Given the description of an element on the screen output the (x, y) to click on. 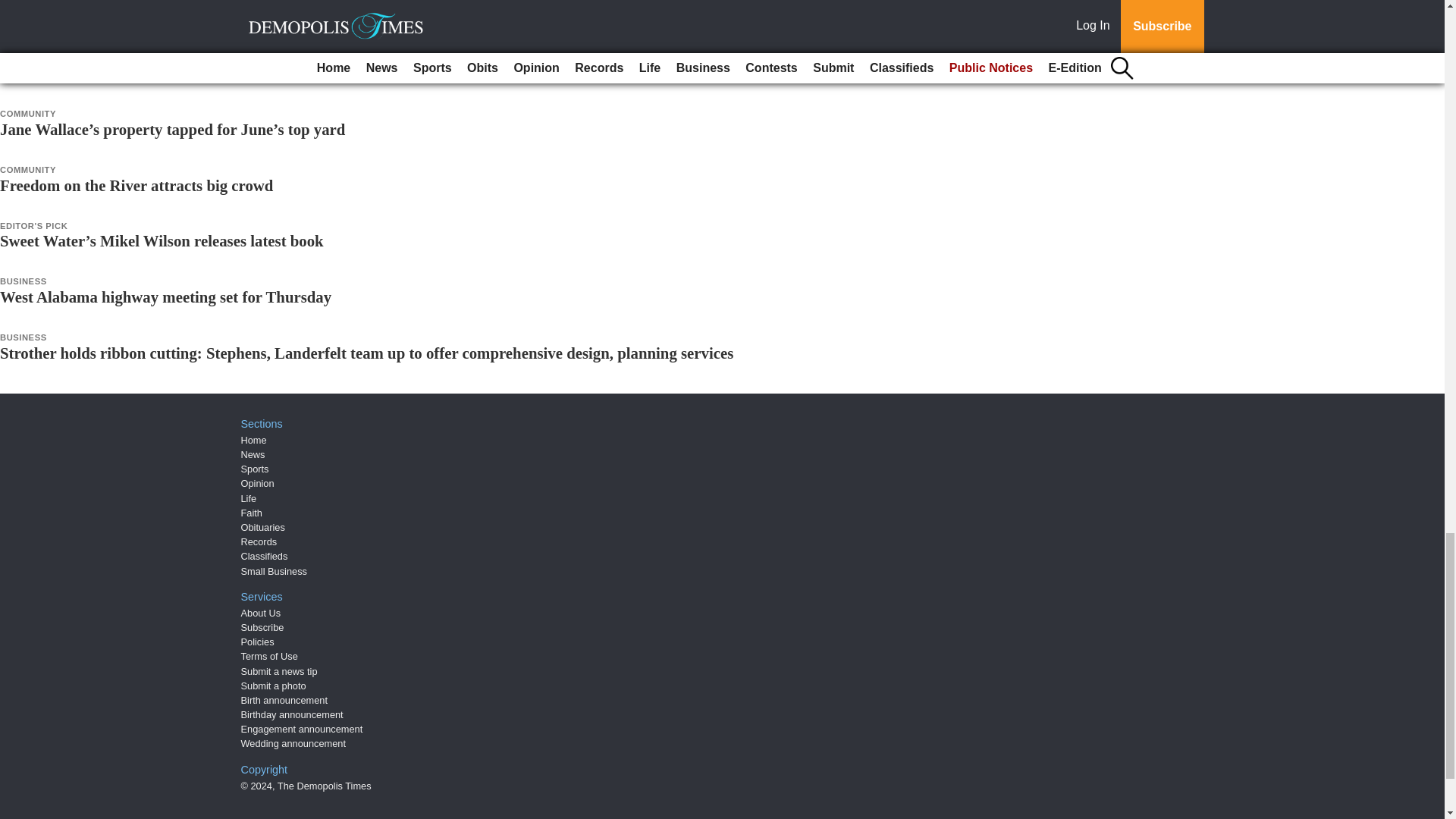
Fred Ridener Brown Jr. (80, 16)
